Given the description of an element on the screen output the (x, y) to click on. 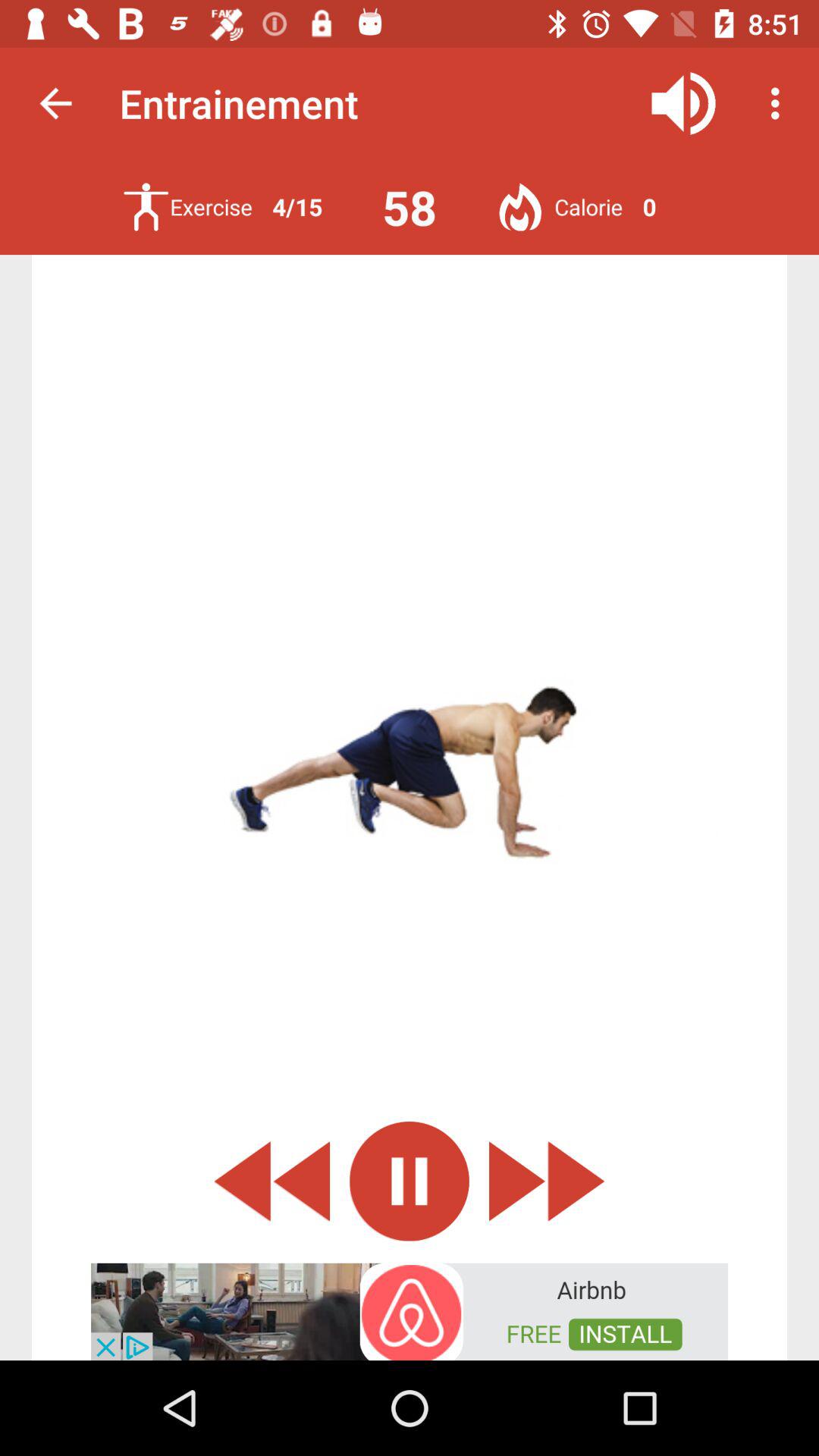
play pause icon (409, 1181)
